Given the description of an element on the screen output the (x, y) to click on. 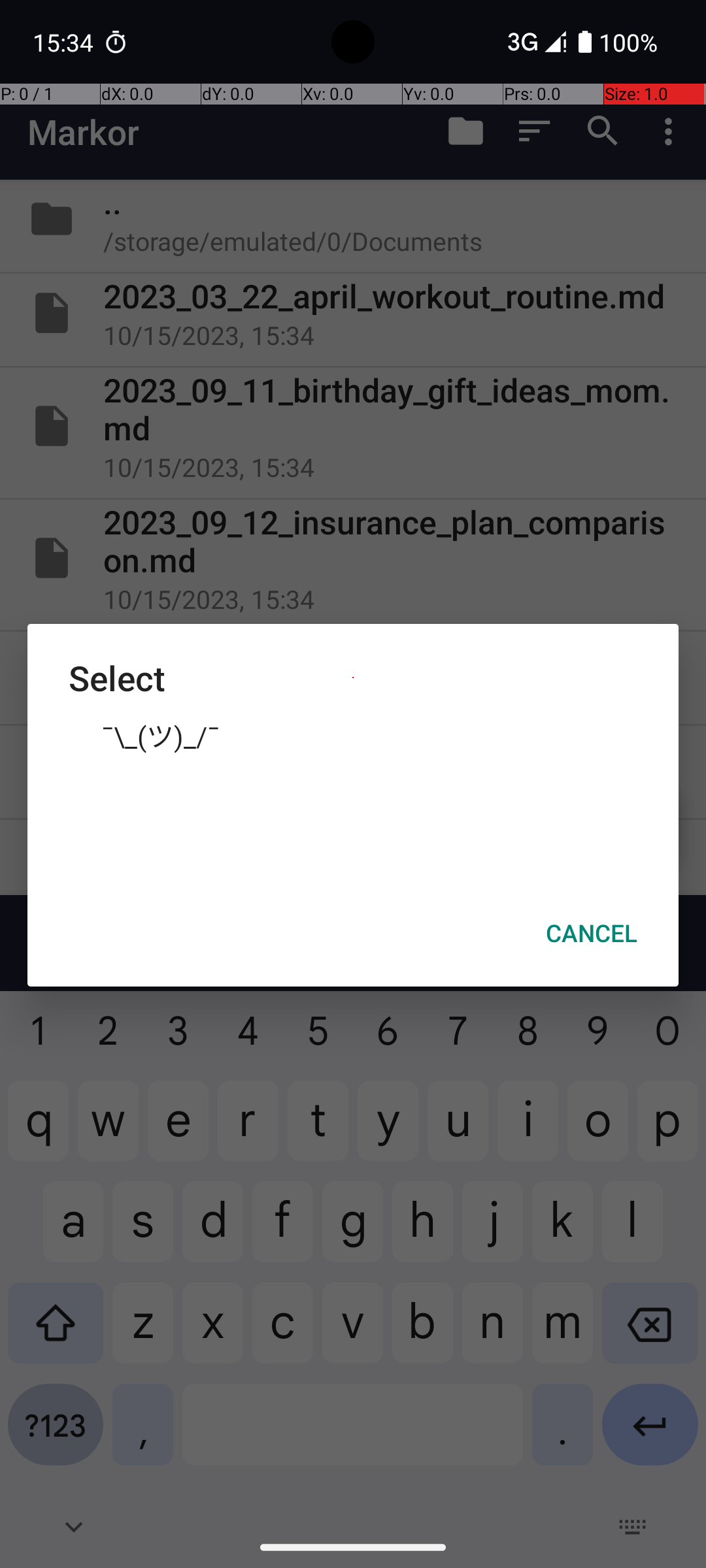
     ¯\_(ツ)_/¯      Element type: android.widget.TextView (352, 734)
